Given the description of an element on the screen output the (x, y) to click on. 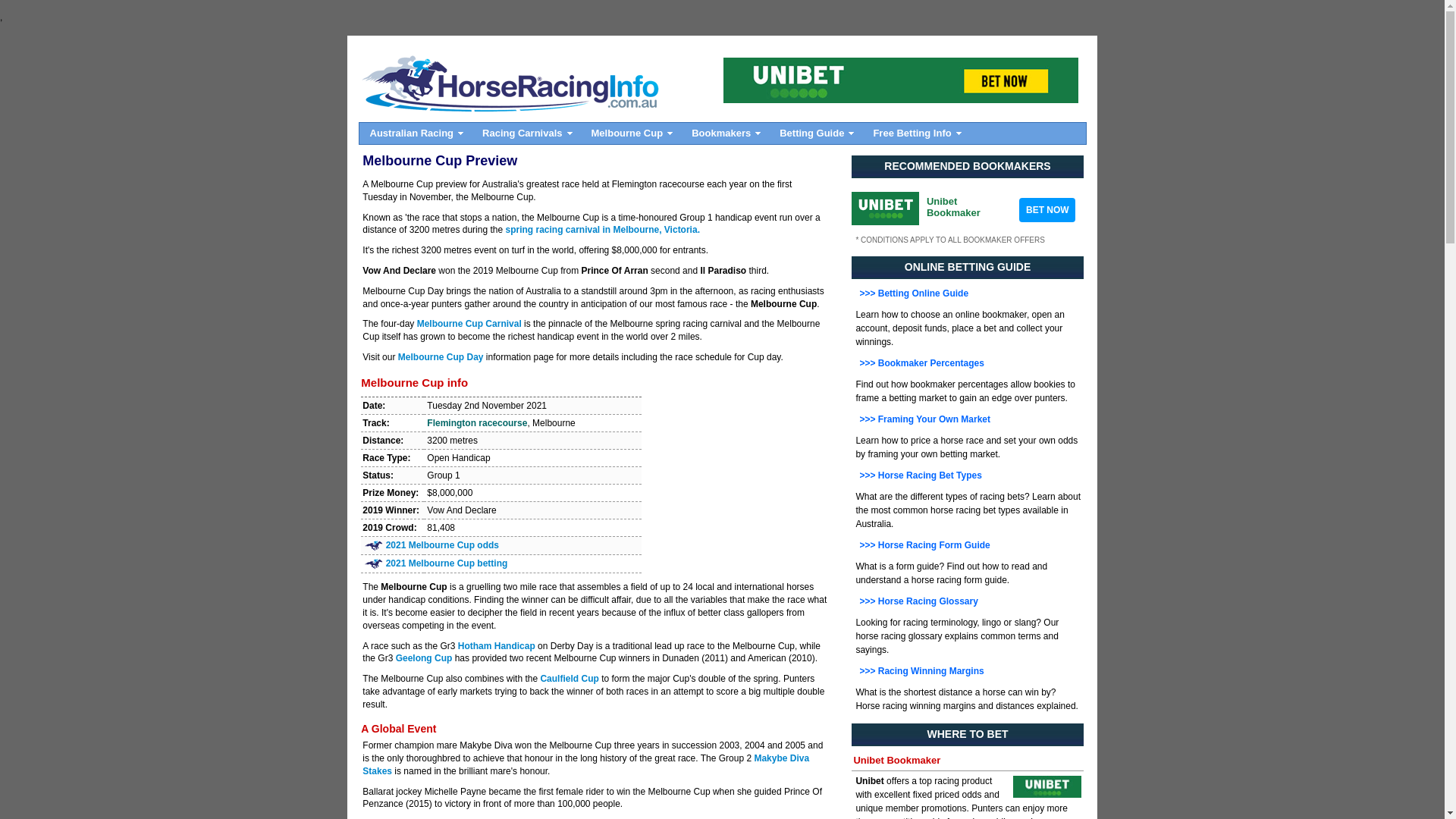
Racing Carnivals Element type: text (525, 133)
Geelong Cup Element type: text (423, 657)
Free Betting Info Element type: text (914, 133)
Australian Racing Element type: text (415, 133)
>>> Betting Online Guide Element type: text (911, 293)
Melbourne Cup Day Element type: text (440, 356)
Melbourne Cup Element type: text (630, 133)
>>> Framing Your Own Market Element type: text (922, 419)
2021 Melbourne Cup betting Element type: text (446, 563)
>>> Horse Racing Bet Types Element type: text (918, 475)
Caulfield Cup Element type: text (568, 678)
>>> Horse Racing Form Guide Element type: text (922, 544)
Makybe Diva Stakes Element type: text (585, 764)
Flemington racecourse Element type: text (476, 422)
2021 Melbourne Cup odds Element type: text (441, 544)
>>> Bookmaker Percentages Element type: text (919, 362)
Betting Guide Element type: text (814, 133)
Bookmakers Element type: text (724, 133)
BET NOW Element type: text (1047, 209)
Melbourne Cup Carnival Element type: text (469, 323)
>>> Racing Winning Margins Element type: text (919, 670)
>>> Horse Racing Glossary Element type: text (916, 601)
spring racing carnival in Melbourne, Victoria. Element type: text (602, 229)
Hotham Handicap Element type: text (496, 645)
